Given the description of an element on the screen output the (x, y) to click on. 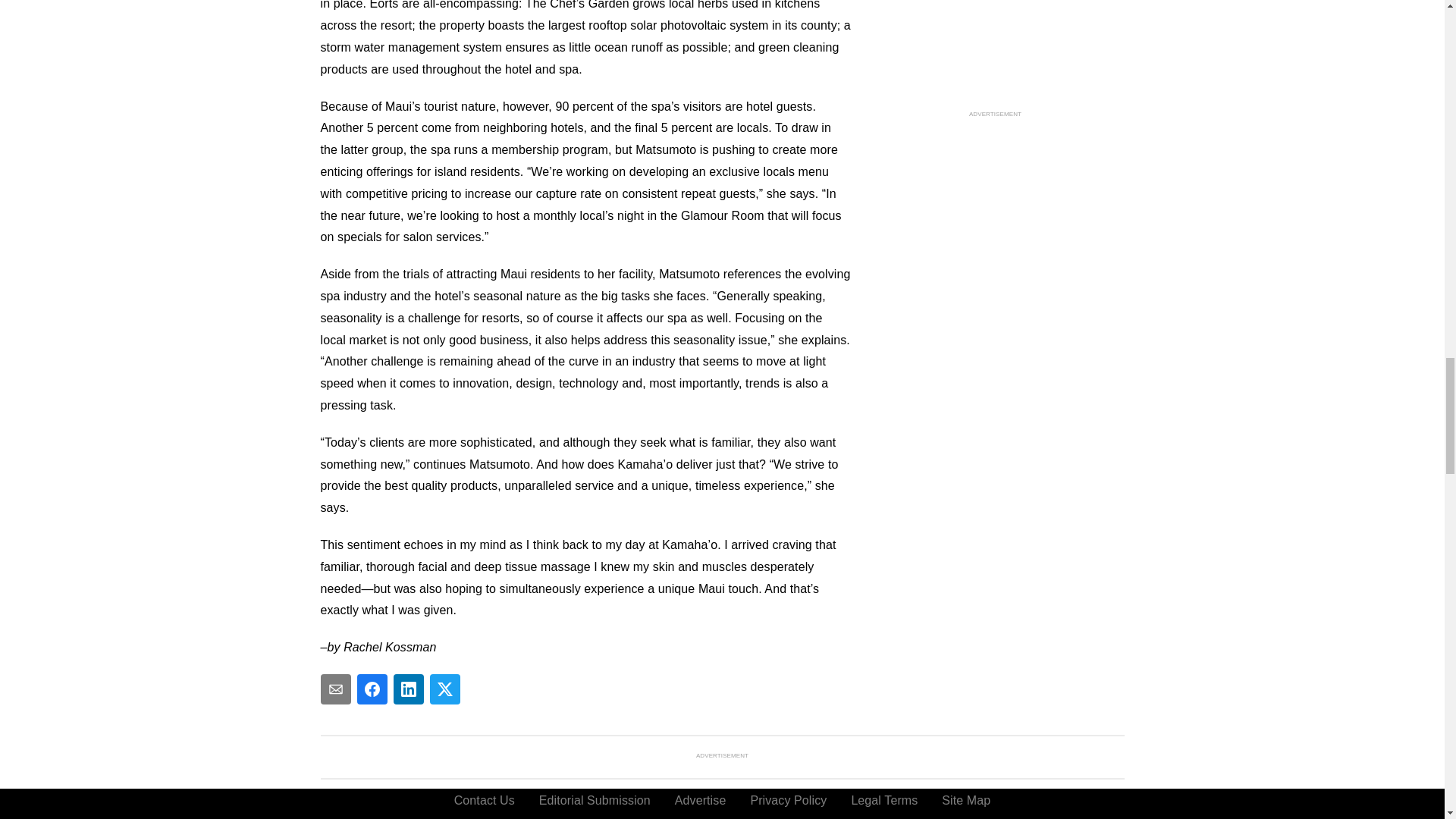
Share To email (335, 689)
Share To twitter (444, 689)
Share To facebook (371, 689)
Share To linkedin (408, 689)
